Given the description of an element on the screen output the (x, y) to click on. 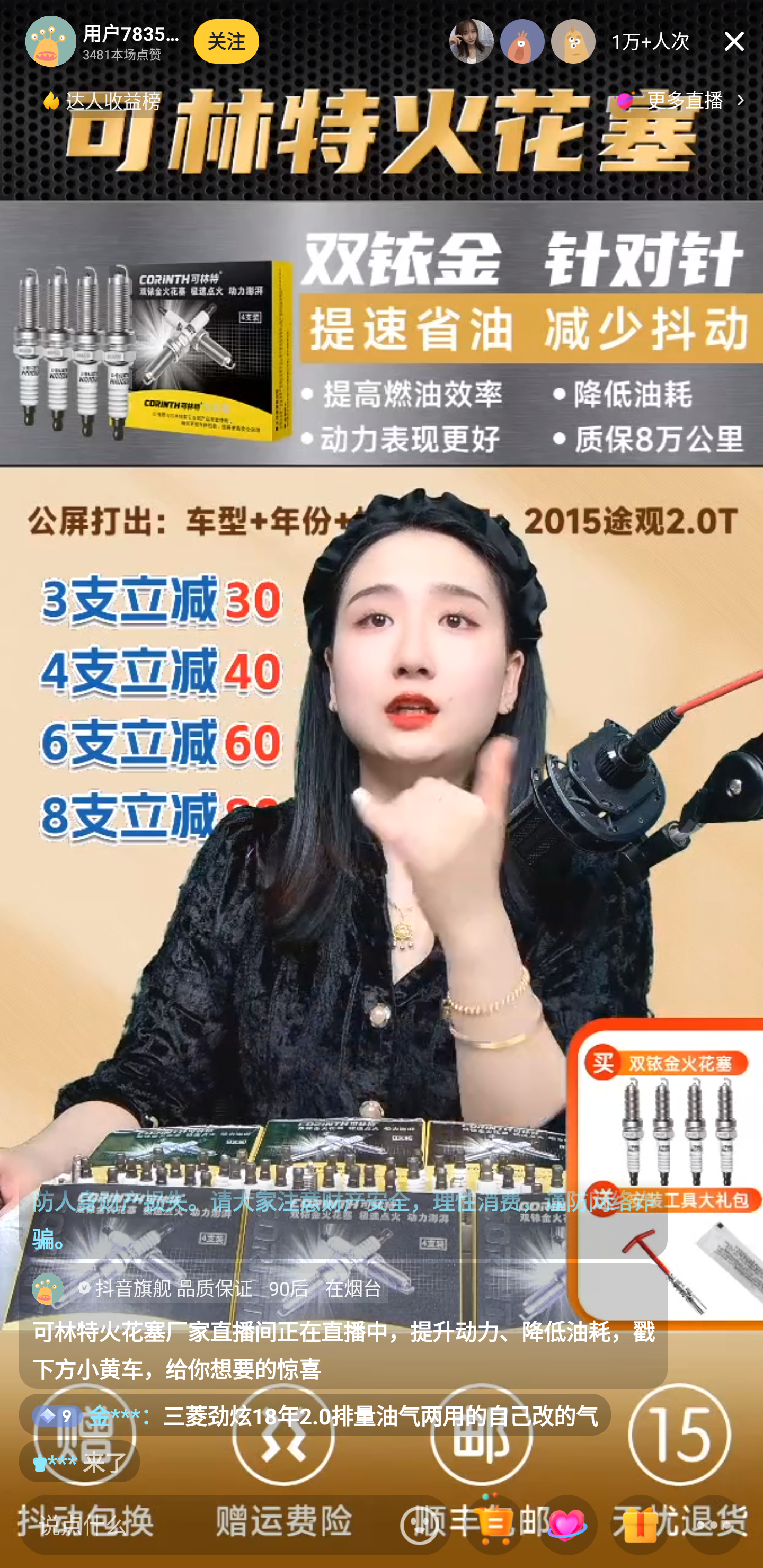
榜一 X*** (471, 41)
榜二 想*** (522, 41)
榜三 朋*** (572, 41)
1万+人次 (650, 41)
关注 (226, 41)
关闭 (733, 41)
达人收益榜，按钮 (102, 100)
更多直播 (682, 100)
* 金***：三菱劲炫18年2.0排量油气两用的自己改的气 (315, 1414)
♚*** 来了 (79, 1460)
说点什么 (205, 1524)
表情入口 (419, 1524)
商品列表 (493, 1526)
商品列表 (493, 1526)
小心心 (567, 1526)
礼物 (640, 1526)
更多面板 按钮 (713, 1526)
